Given the description of an element on the screen output the (x, y) to click on. 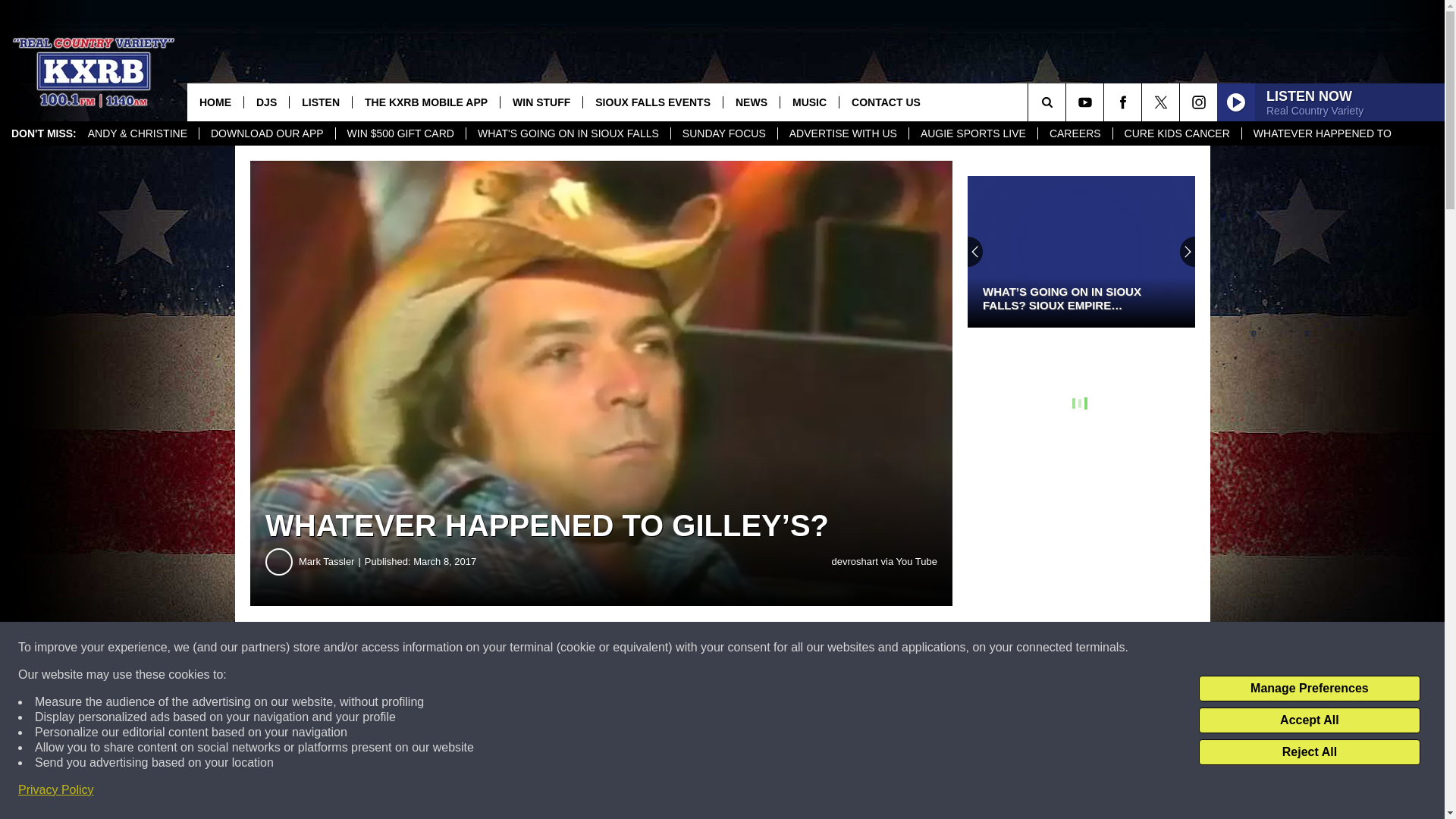
SEARCH (1068, 102)
Share on Twitter (741, 647)
Accept All (1309, 720)
Share on Facebook (460, 647)
AUGIE SPORTS LIVE (972, 133)
CAREERS (1074, 133)
THE KXRB MOBILE APP (425, 102)
LISTEN (320, 102)
SUNDAY FOCUS (723, 133)
Privacy Policy (55, 789)
